Given the description of an element on the screen output the (x, y) to click on. 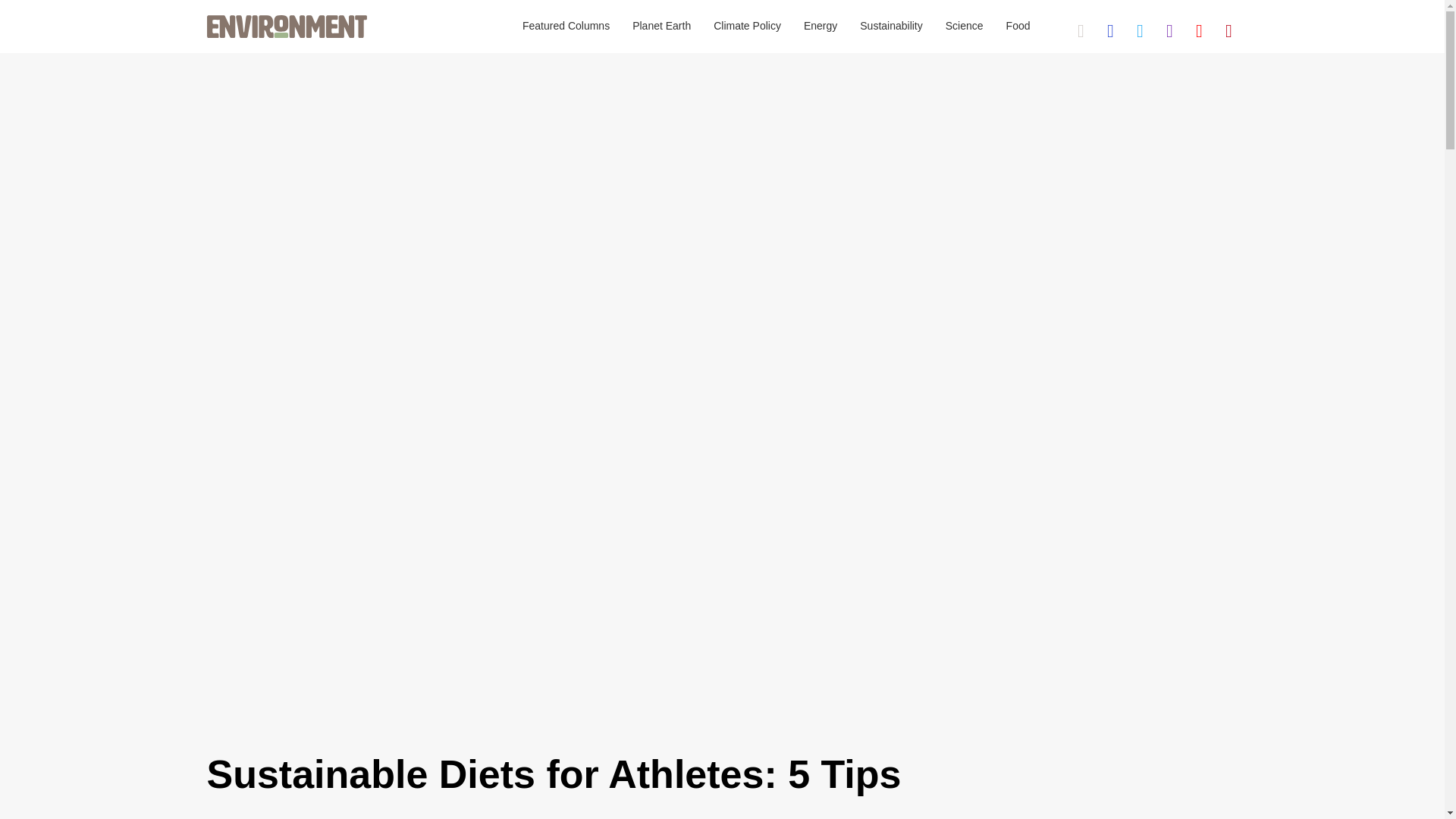
Featured Columns (566, 26)
Sustainability (891, 26)
Climate Policy (746, 26)
Planet Earth (660, 26)
Food (1018, 26)
Science (964, 26)
Energy (820, 26)
